Given the description of an element on the screen output the (x, y) to click on. 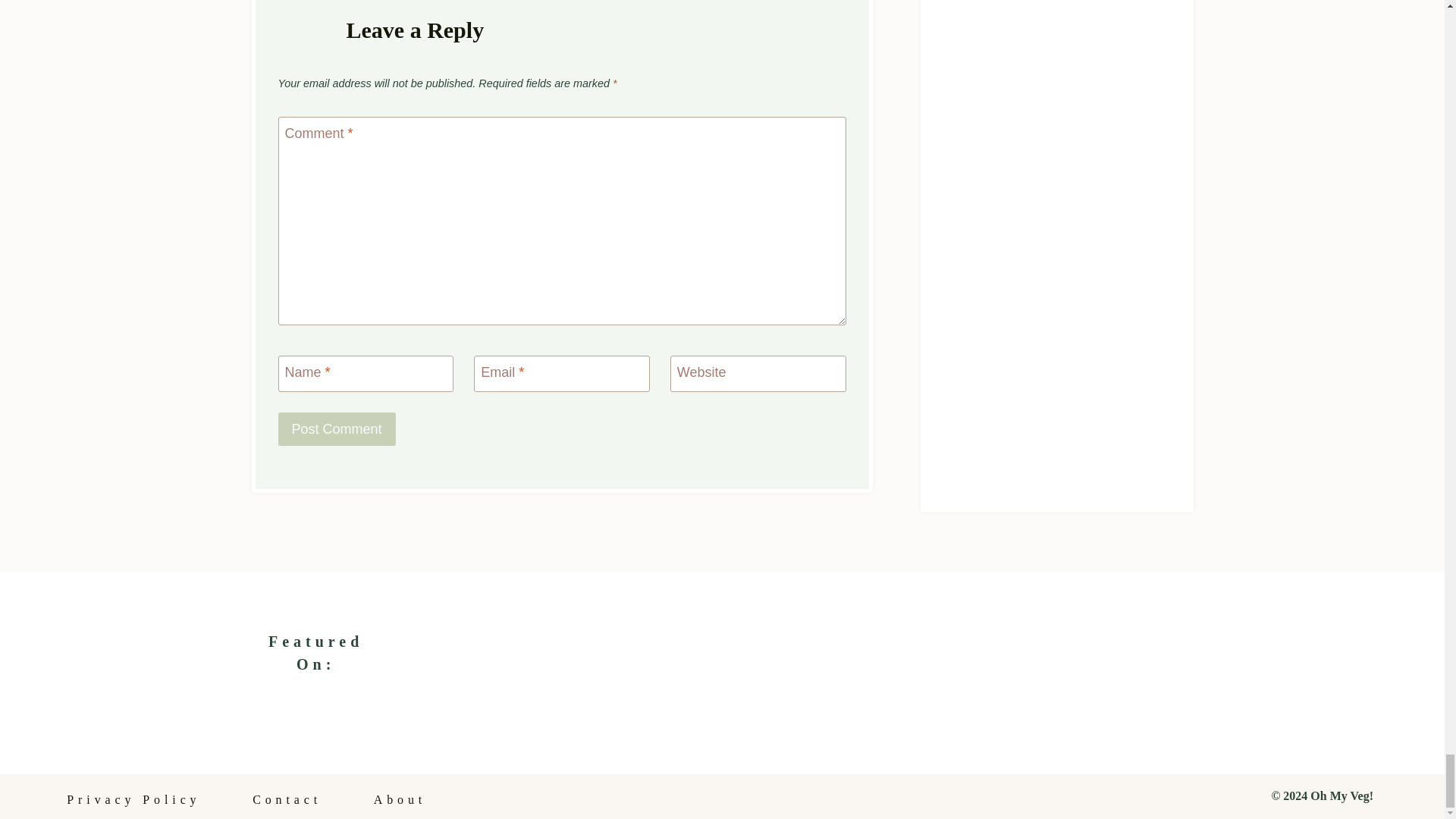
Post Comment (336, 428)
